Given the description of an element on the screen output the (x, y) to click on. 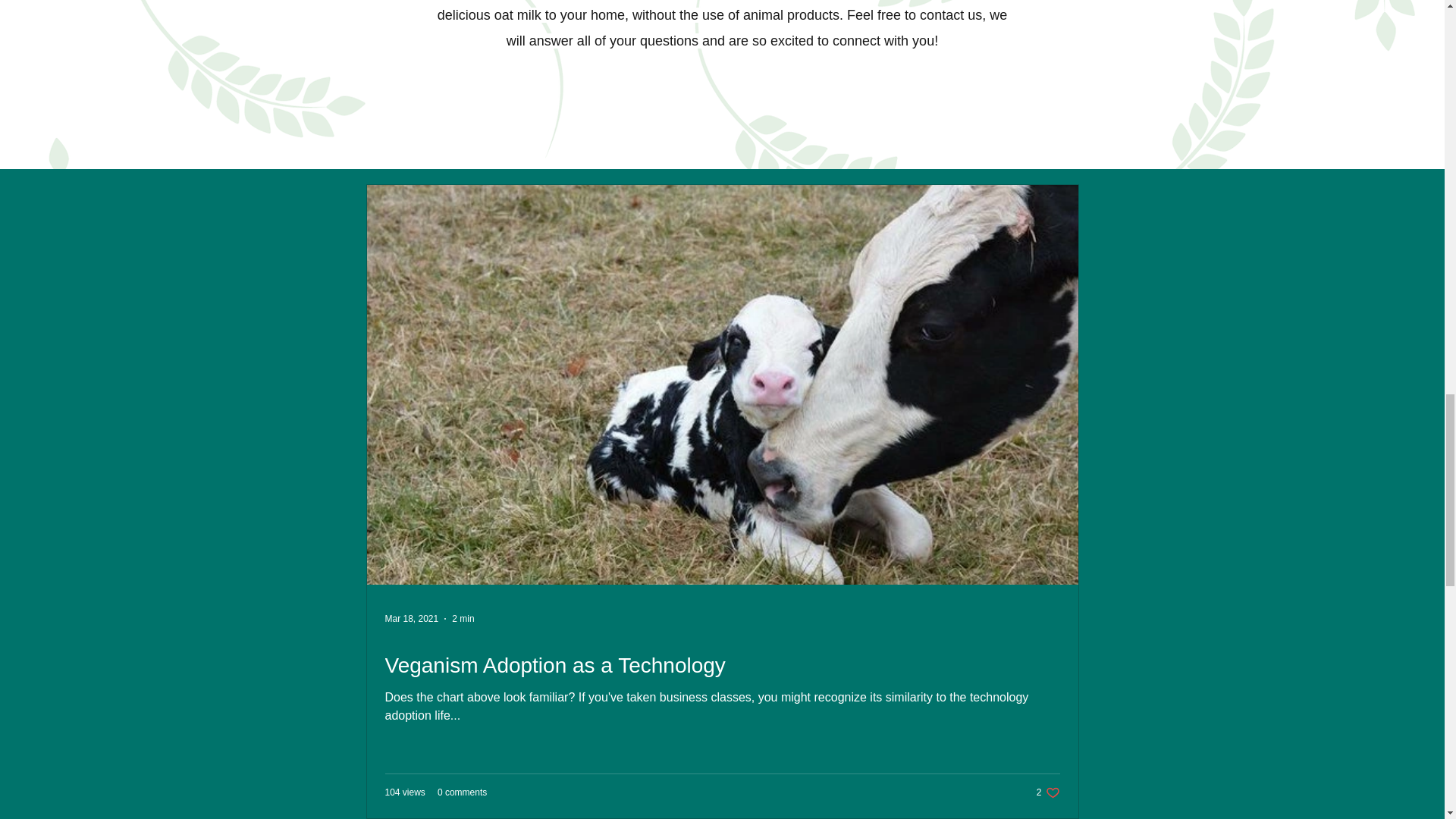
Veganism Adoption as a Technology (722, 665)
0 comments (1047, 792)
2 min (462, 792)
Mar 18, 2021 (462, 618)
